Given the description of an element on the screen output the (x, y) to click on. 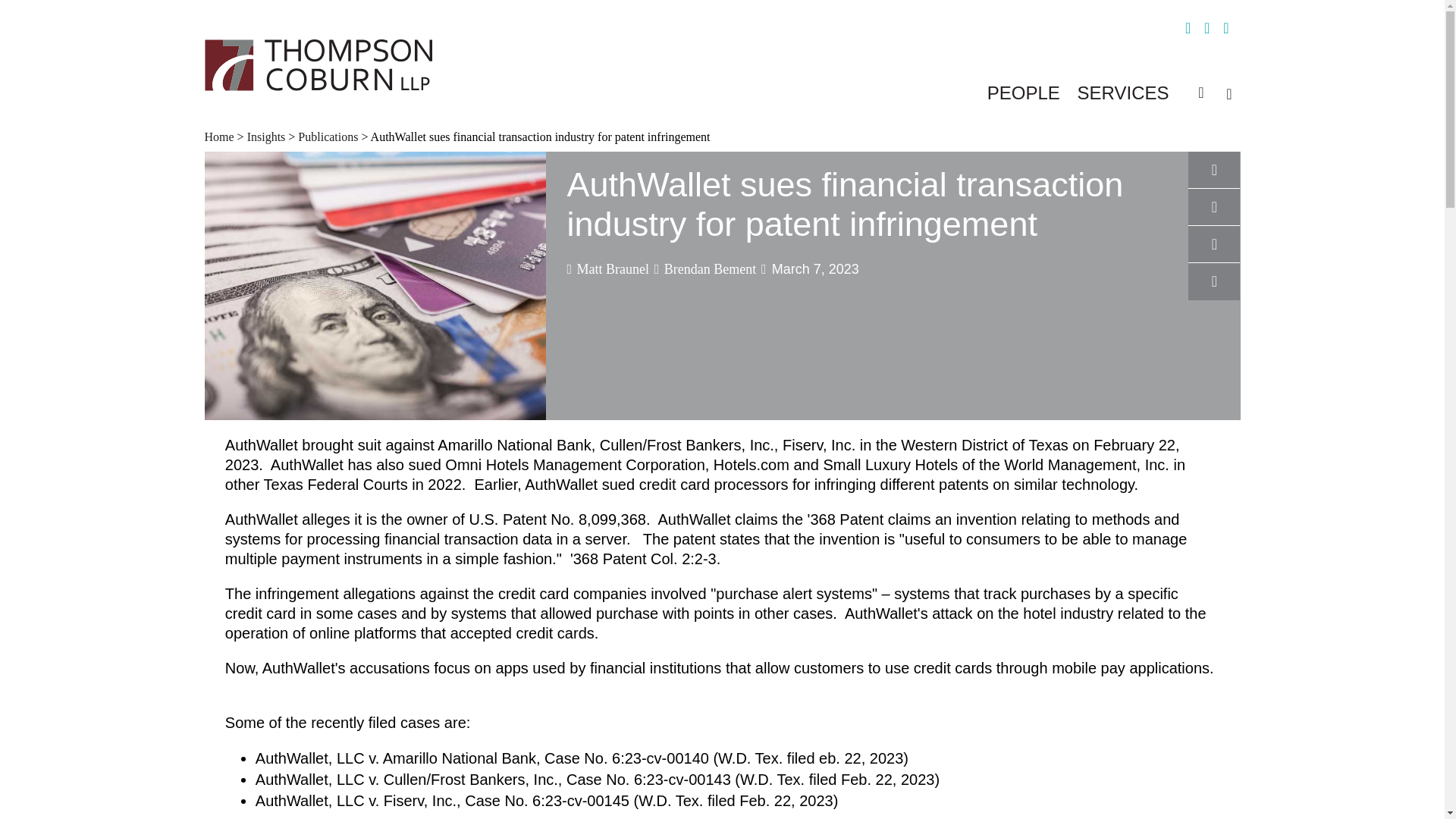
Brendan Bement (704, 267)
Publications (328, 136)
Insights (266, 136)
Share on Facebook (1214, 172)
Tweet (1214, 246)
PEOPLE (1023, 92)
Home (221, 136)
Matt Braunel (608, 267)
SERVICES (1123, 92)
Email (1214, 284)
Share on LinkedIn (1214, 209)
